Given the description of an element on the screen output the (x, y) to click on. 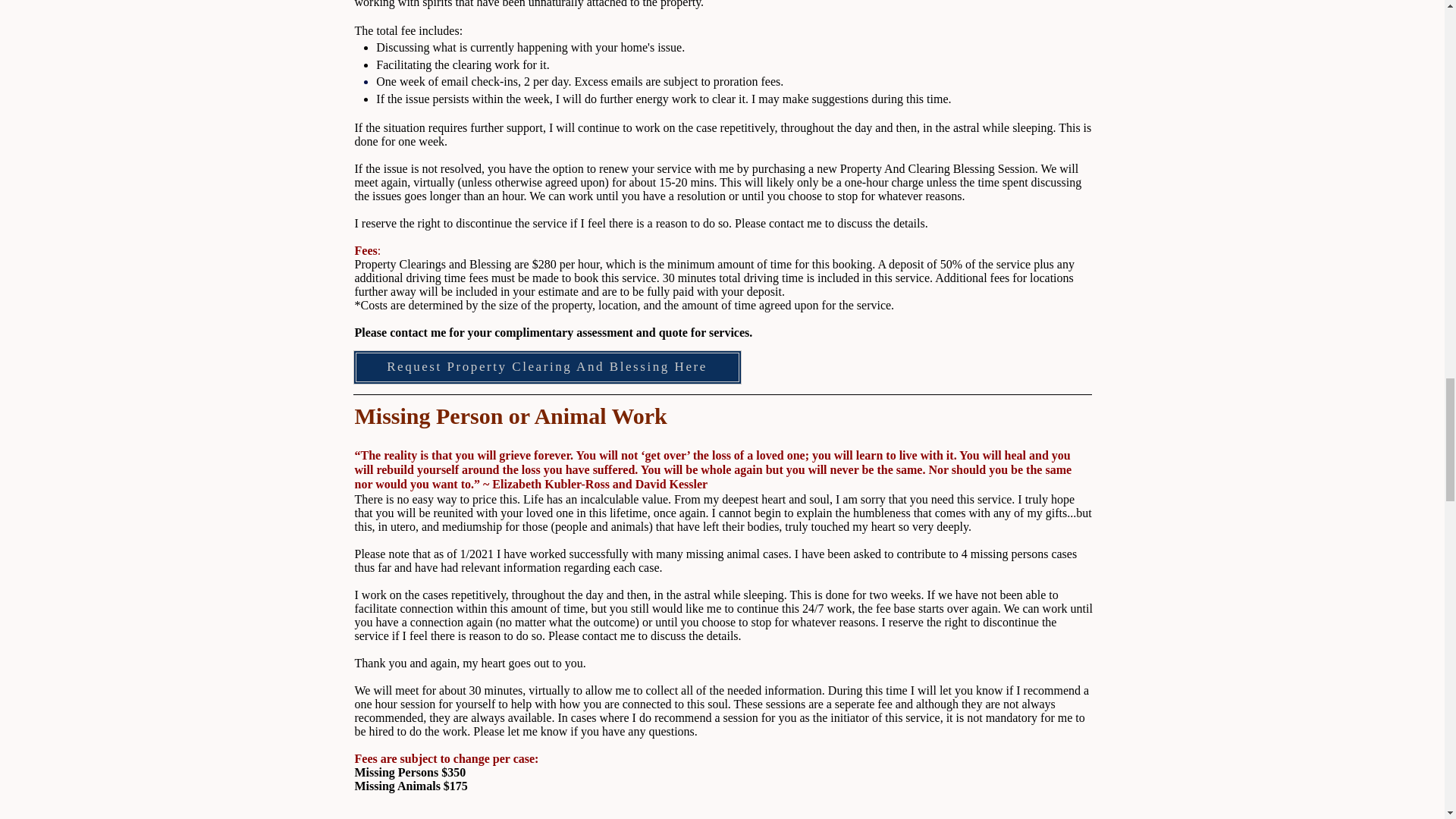
Request Property Clearing And Blessing Here (547, 367)
